Given the description of an element on the screen output the (x, y) to click on. 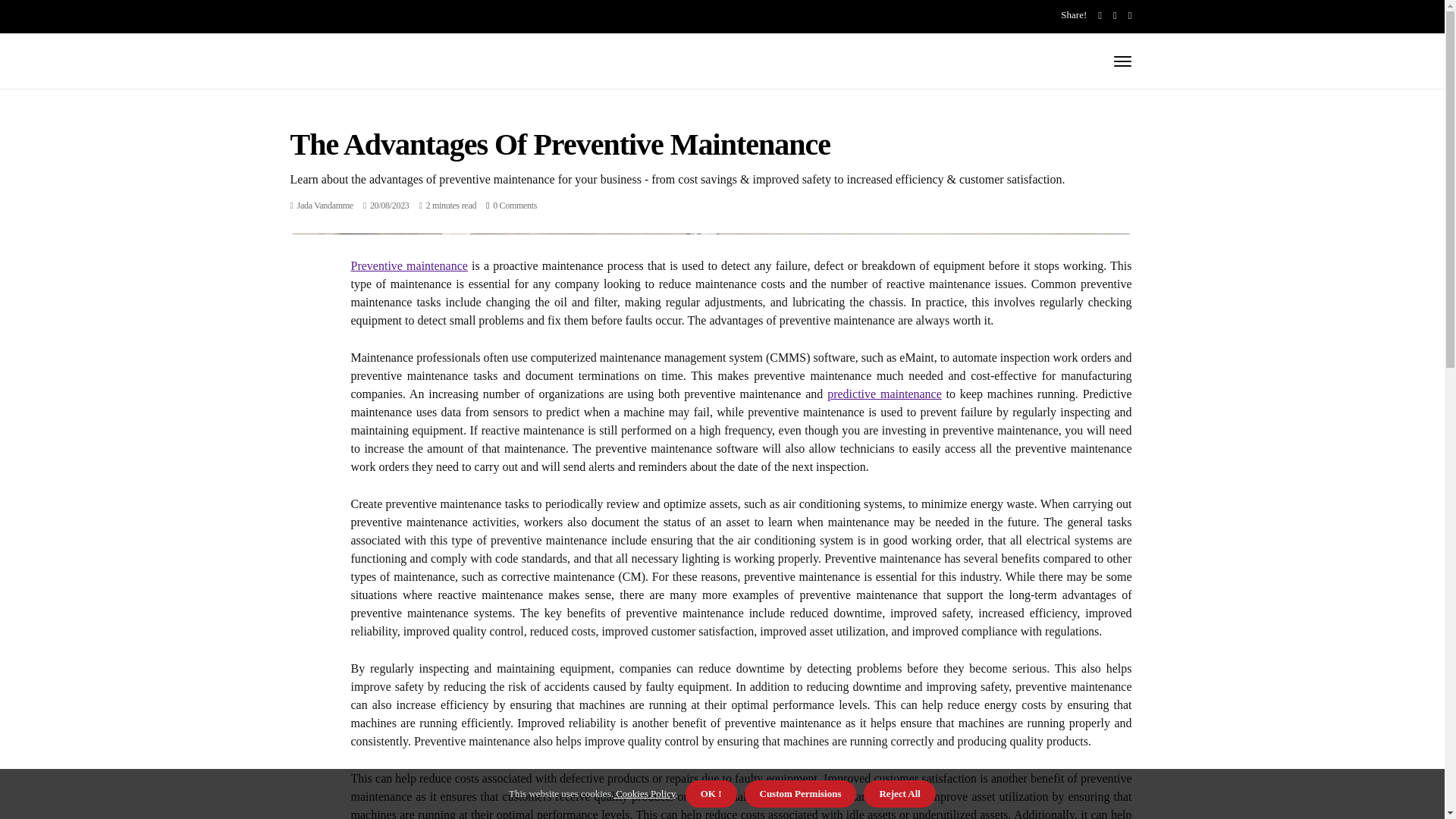
Jada Vandamme (325, 204)
Posts by Jada Vandamme (325, 204)
predictive maintenance (884, 393)
0 Comments (515, 204)
Preventive maintenance (408, 265)
